Given the description of an element on the screen output the (x, y) to click on. 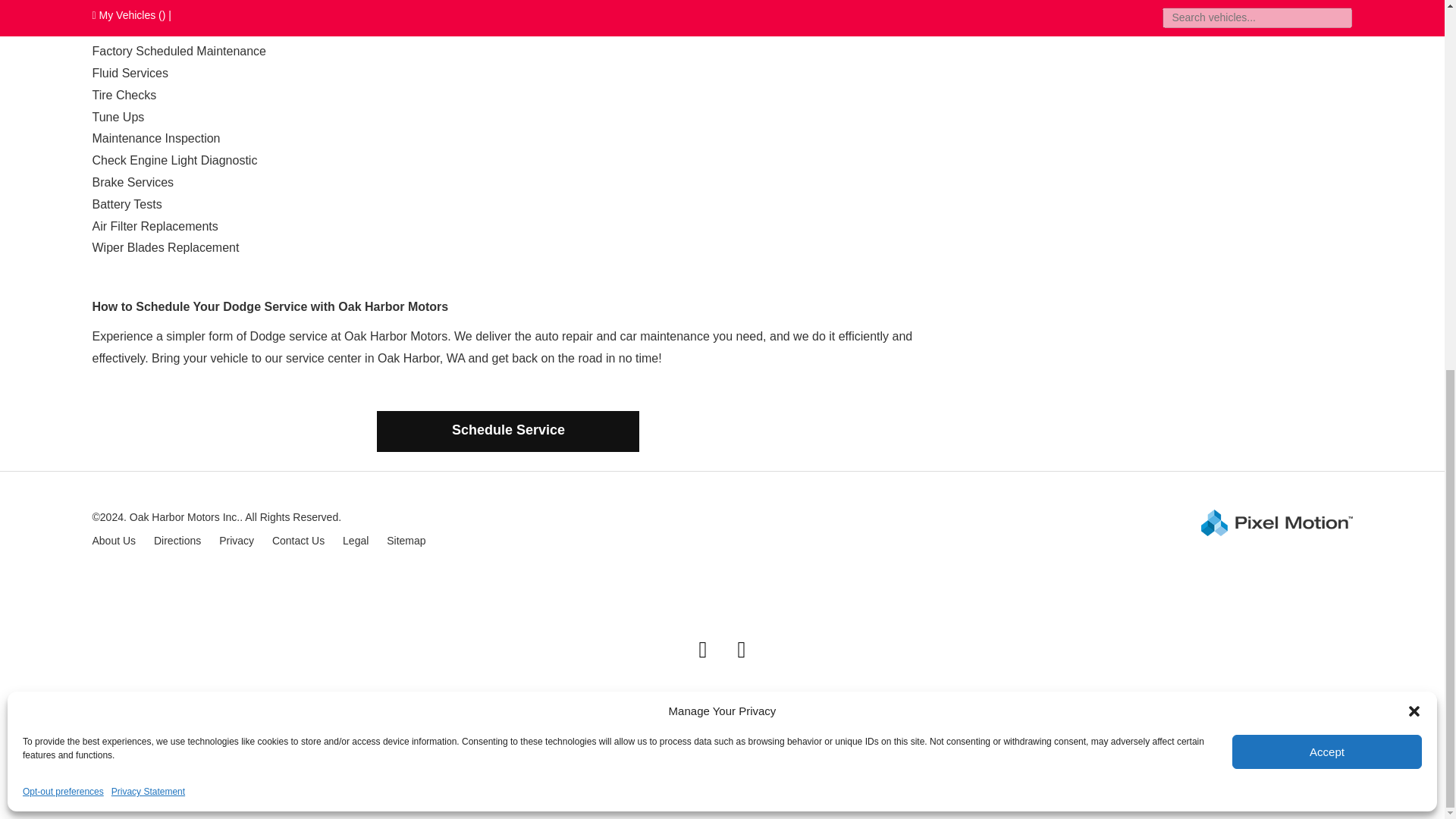
Opt-out preferences (63, 120)
Accept (1326, 80)
Privacy Statement (148, 120)
